Given the description of an element on the screen output the (x, y) to click on. 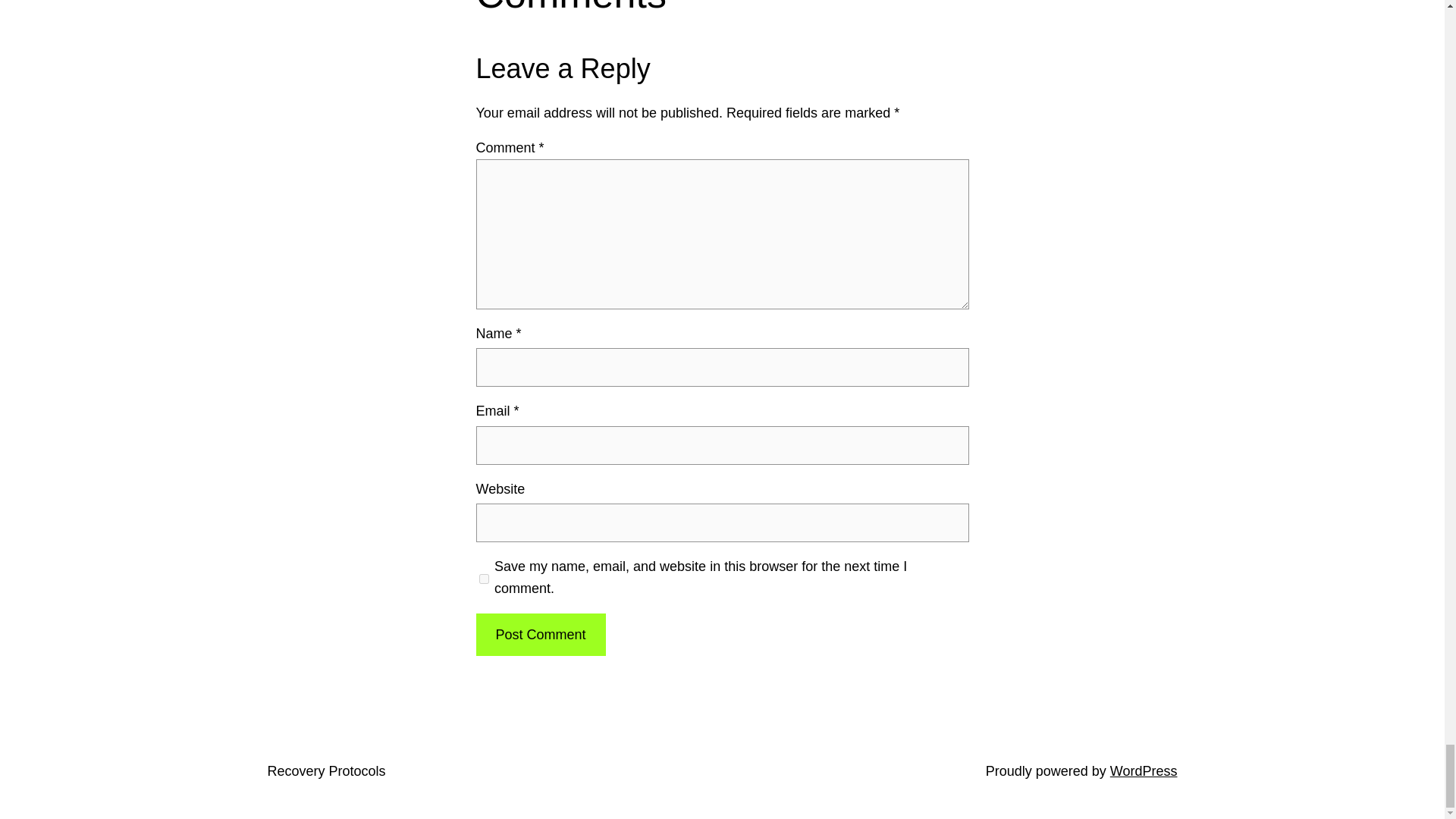
Post Comment (540, 634)
Recovery Protocols (325, 770)
WordPress (1143, 770)
Post Comment (540, 634)
